Given the description of an element on the screen output the (x, y) to click on. 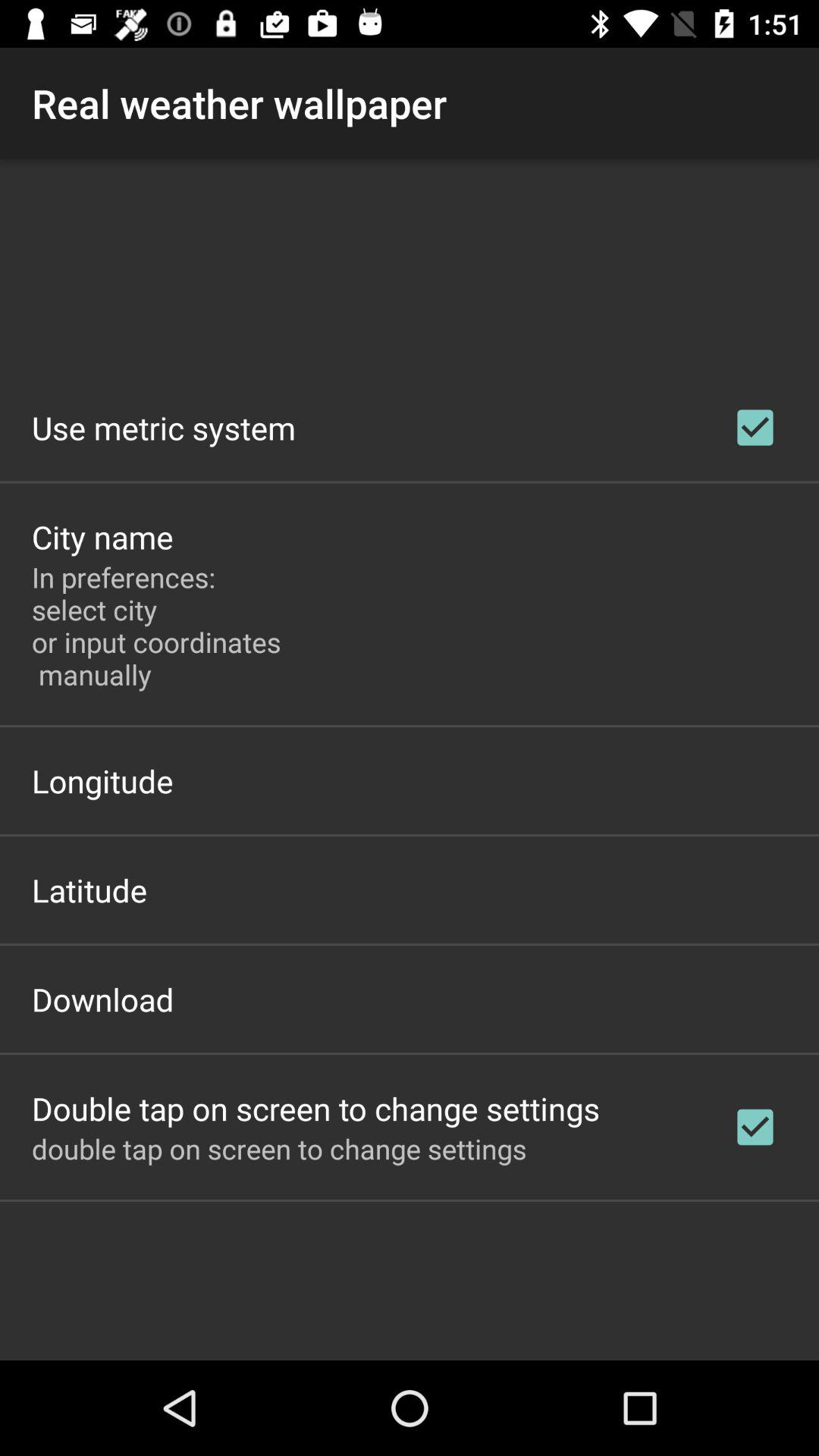
turn off longitude app (102, 780)
